Given the description of an element on the screen output the (x, y) to click on. 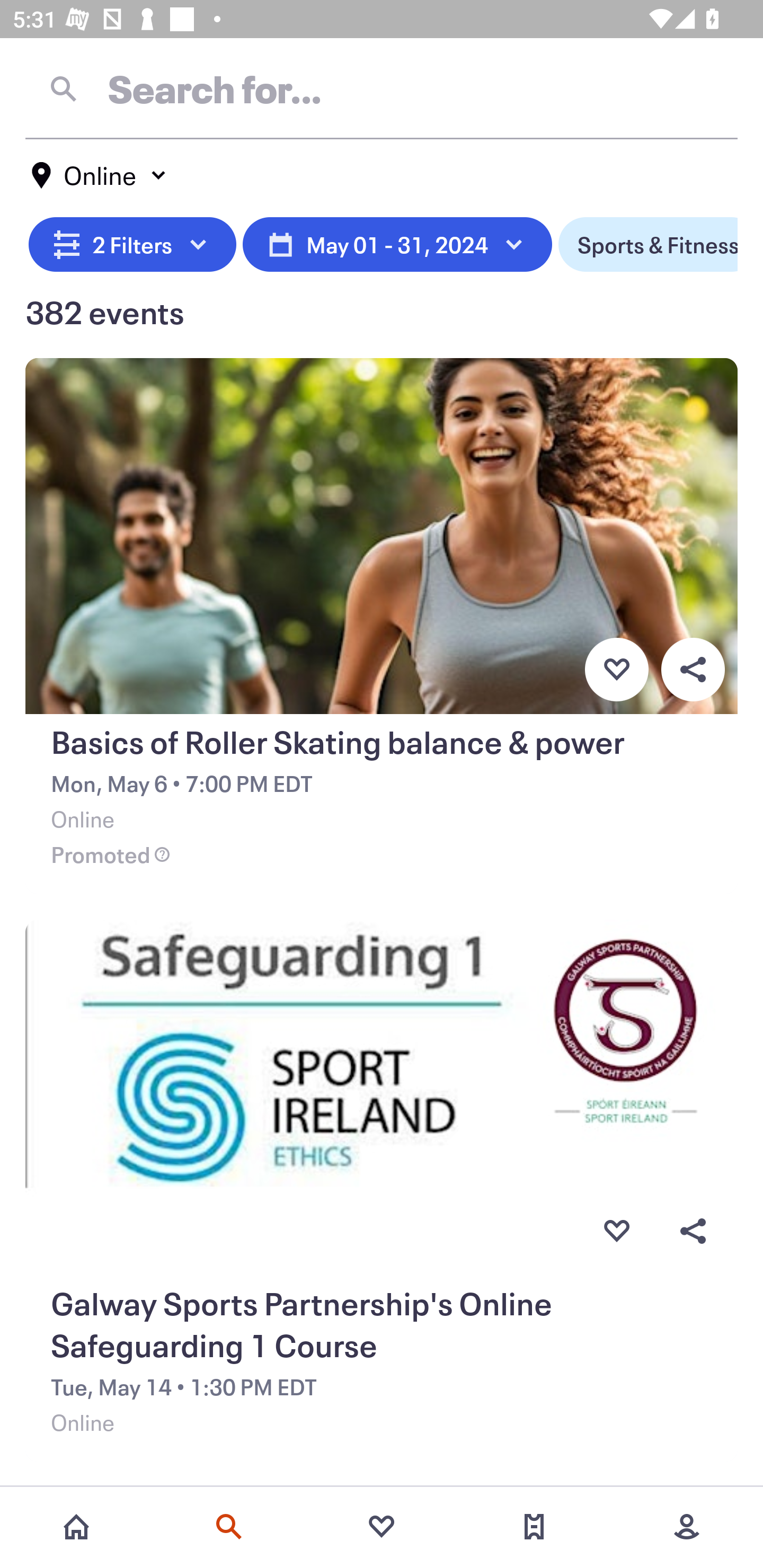
Search for… (381, 88)
Online (99, 175)
2 Filters (132, 244)
May 01 - 31, 2024 (397, 244)
Sports & Fitness (647, 244)
Favorite button (616, 669)
Overflow menu button (692, 669)
Favorite button (616, 1230)
Overflow menu button (692, 1230)
Home (76, 1526)
Search events (228, 1526)
Favorites (381, 1526)
Tickets (533, 1526)
More (686, 1526)
